Given the description of an element on the screen output the (x, y) to click on. 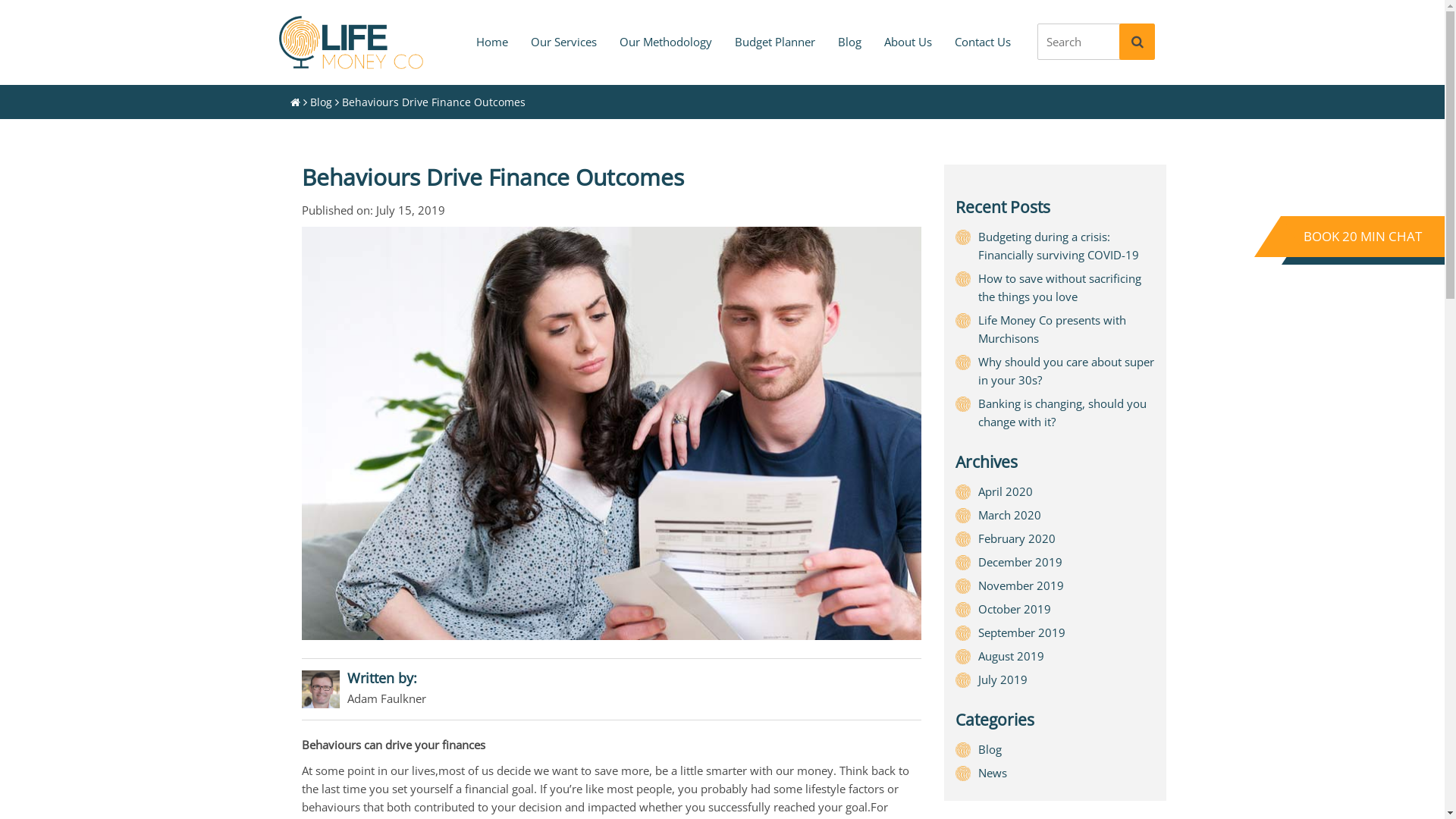
Go to Life Money Co. Element type: hover (294, 101)
October 2019 Element type: text (1014, 608)
Blog Element type: text (320, 101)
September 2019 Element type: text (1021, 632)
November 2019 Element type: text (1020, 585)
News Element type: text (992, 772)
Our Methodology Element type: text (665, 41)
Blog Element type: text (989, 748)
Home Element type: text (491, 41)
March 2020 Element type: text (1009, 514)
July 2019 Element type: text (1002, 679)
Contact Us Element type: text (982, 41)
Why should you care about super in your 30s? Element type: text (1066, 370)
April 2020 Element type: text (1005, 490)
Blog Element type: text (849, 41)
Banking is changing, should you change with it? Element type: text (1062, 412)
Life Money Co presents with Murchisons Element type: text (1052, 328)
Our Services Element type: text (562, 41)
August 2019 Element type: text (1011, 655)
Budget Planner Element type: text (774, 41)
December 2019 Element type: text (1020, 561)
About Us Element type: text (907, 41)
How to save without sacrificing the things you love Element type: text (1059, 287)
Budgeting during a crisis: Financially surviving COVID-19 Element type: text (1058, 245)
February 2020 Element type: text (1016, 538)
